Given the description of an element on the screen output the (x, y) to click on. 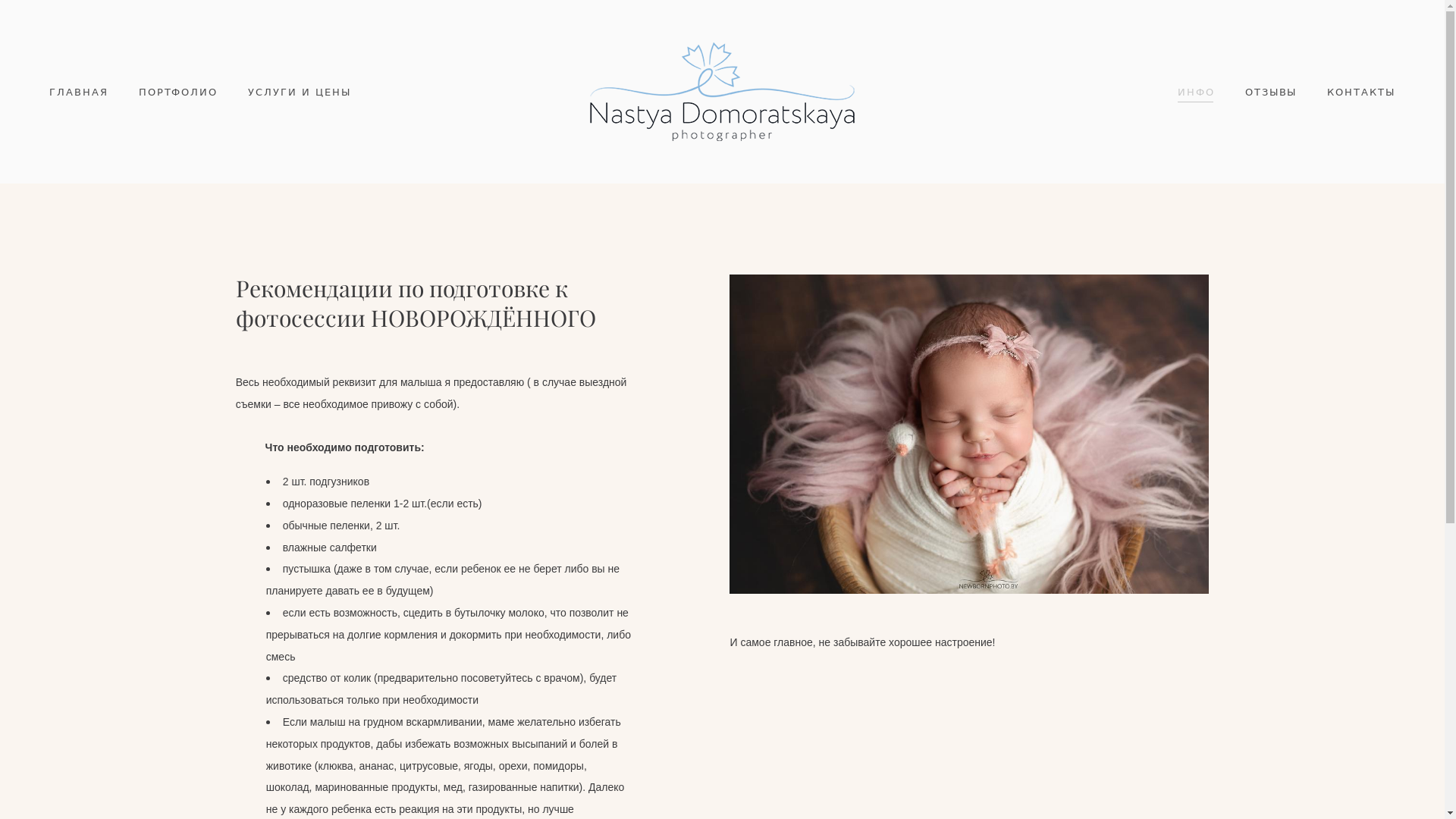
newbornphoto.by Element type: hover (721, 91)
